Given the description of an element on the screen output the (x, y) to click on. 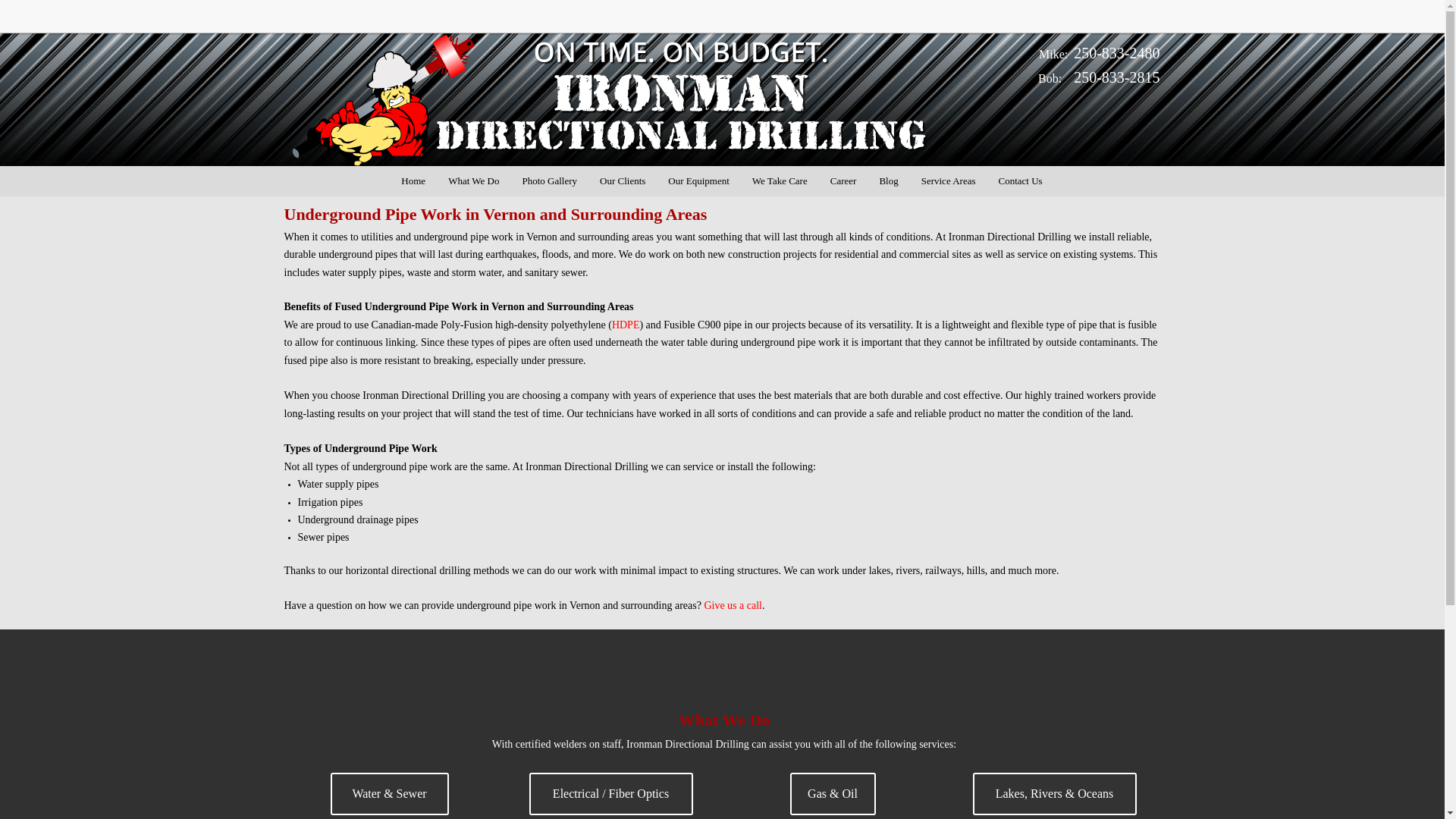
Give us a call (732, 604)
Contact Us (1020, 180)
Photo Gallery (549, 180)
250-833-2480 (1116, 53)
Home (413, 180)
We Take Care (779, 180)
Our Clients (622, 180)
Career (842, 180)
250-833-2815 (1116, 79)
Blog (887, 180)
What We Do (473, 180)
Our Equipment (698, 180)
Service Areas (948, 180)
HDPE (625, 324)
